Given the description of an element on the screen output the (x, y) to click on. 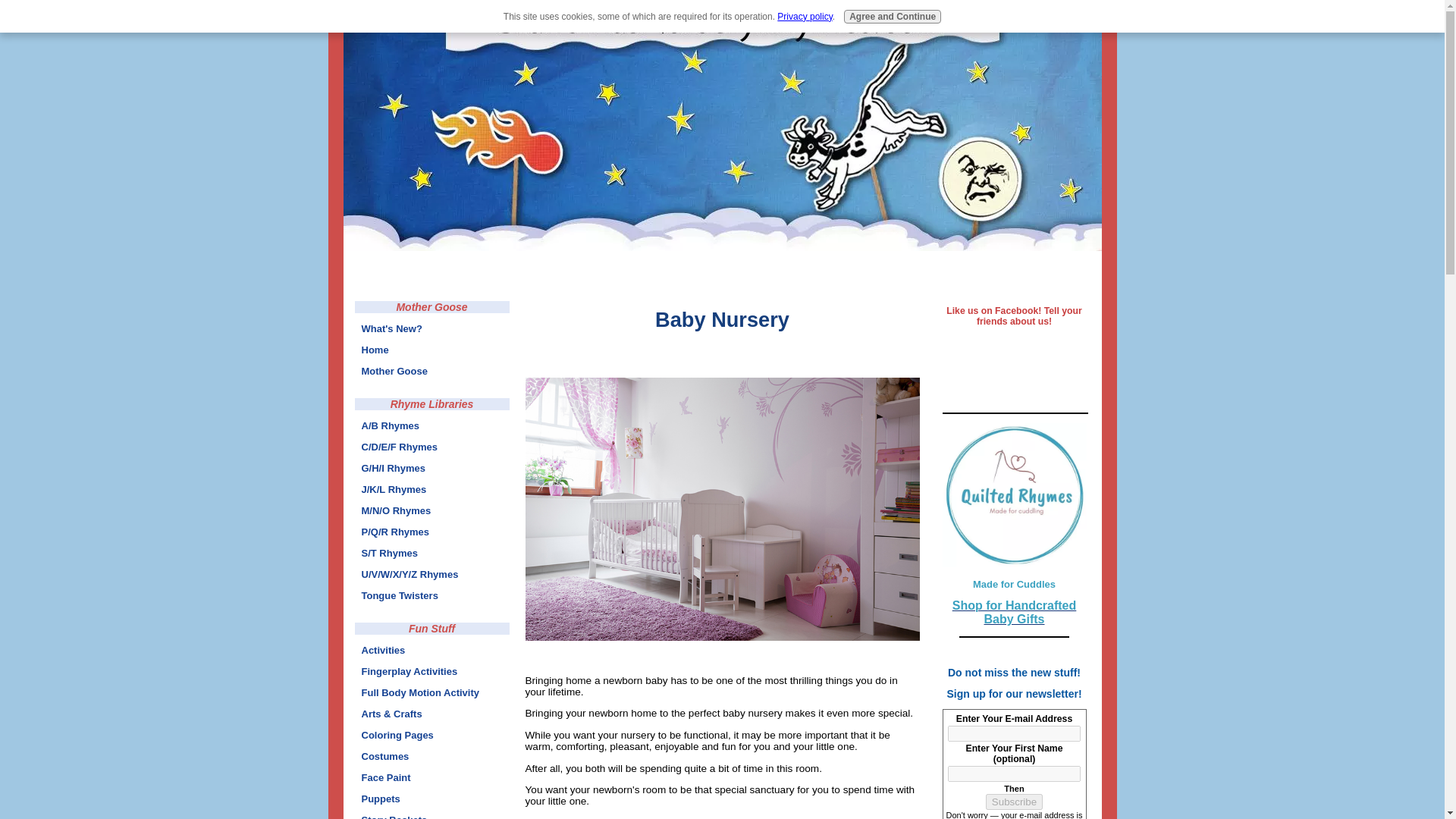
Home (413, 349)
Subscribe (1013, 801)
Mother Goose (413, 370)
What's New? (413, 328)
